Given the description of an element on the screen output the (x, y) to click on. 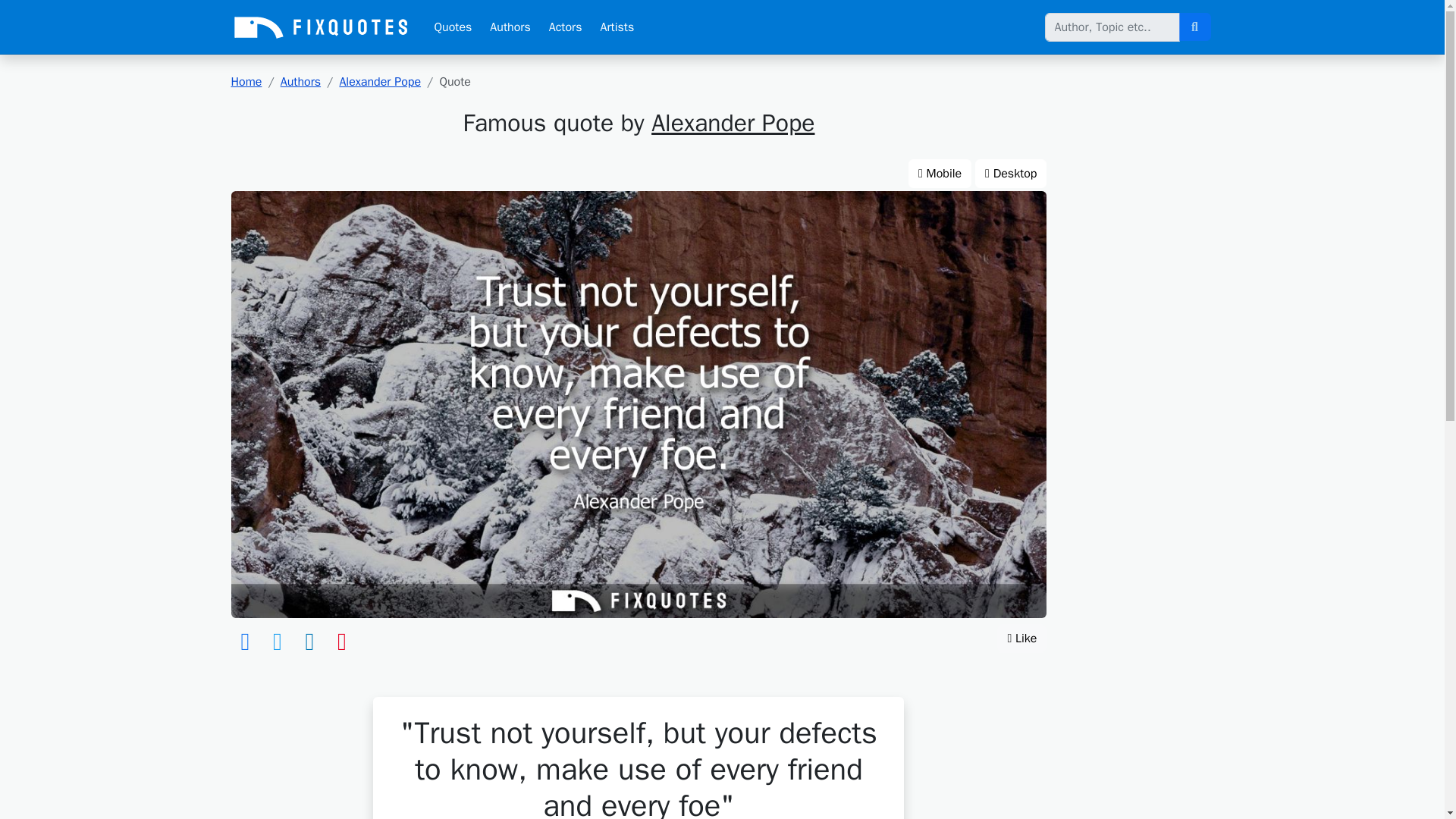
Click to search (1193, 26)
Actors (565, 27)
Alexander Pope (731, 122)
Quotes (452, 27)
Home (246, 81)
Authors (509, 27)
Vote on the best quotes (1021, 638)
View Desktop version (1010, 173)
Desktop (1010, 173)
Authors (300, 81)
Artists (617, 27)
Mobile (939, 173)
Alexander Pope (379, 81)
View Mobile version (939, 173)
